Given the description of an element on the screen output the (x, y) to click on. 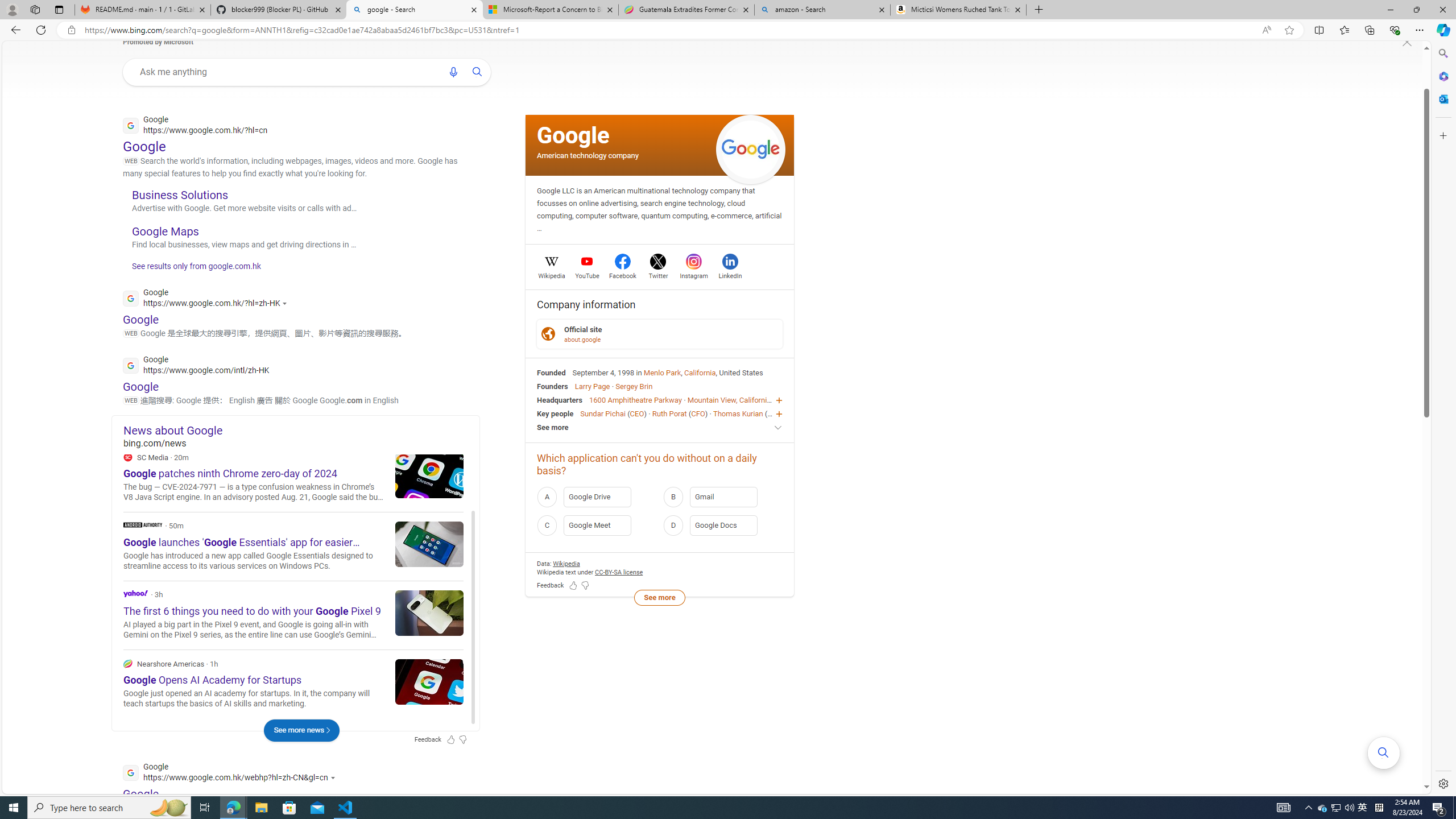
Sundar Pichai (602, 412)
Search more (1383, 753)
Android Authority (142, 524)
Class: sp-ofsite (547, 333)
Instagram (693, 274)
